Given the description of an element on the screen output the (x, y) to click on. 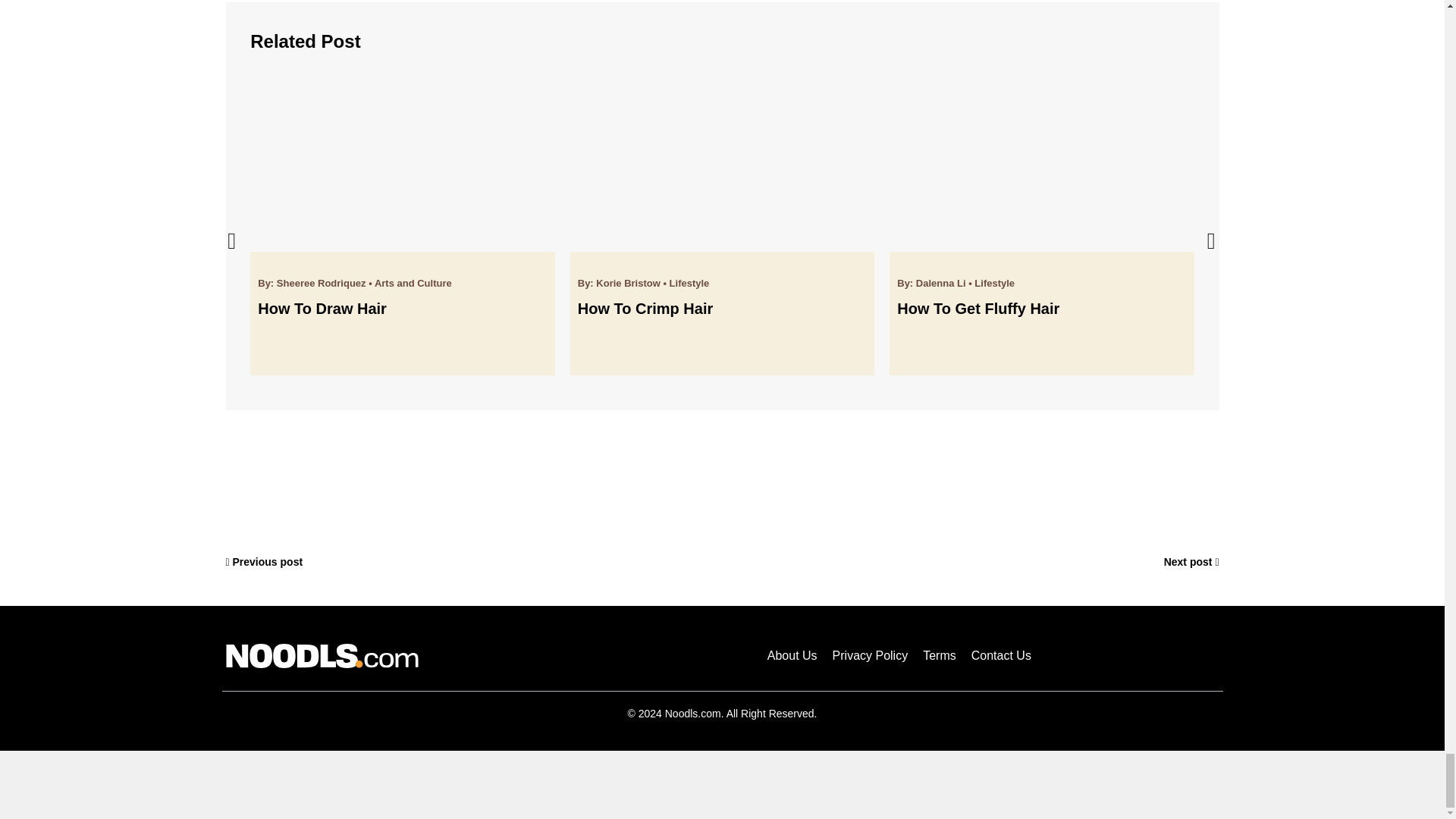
Noodls (322, 655)
